Given the description of an element on the screen output the (x, y) to click on. 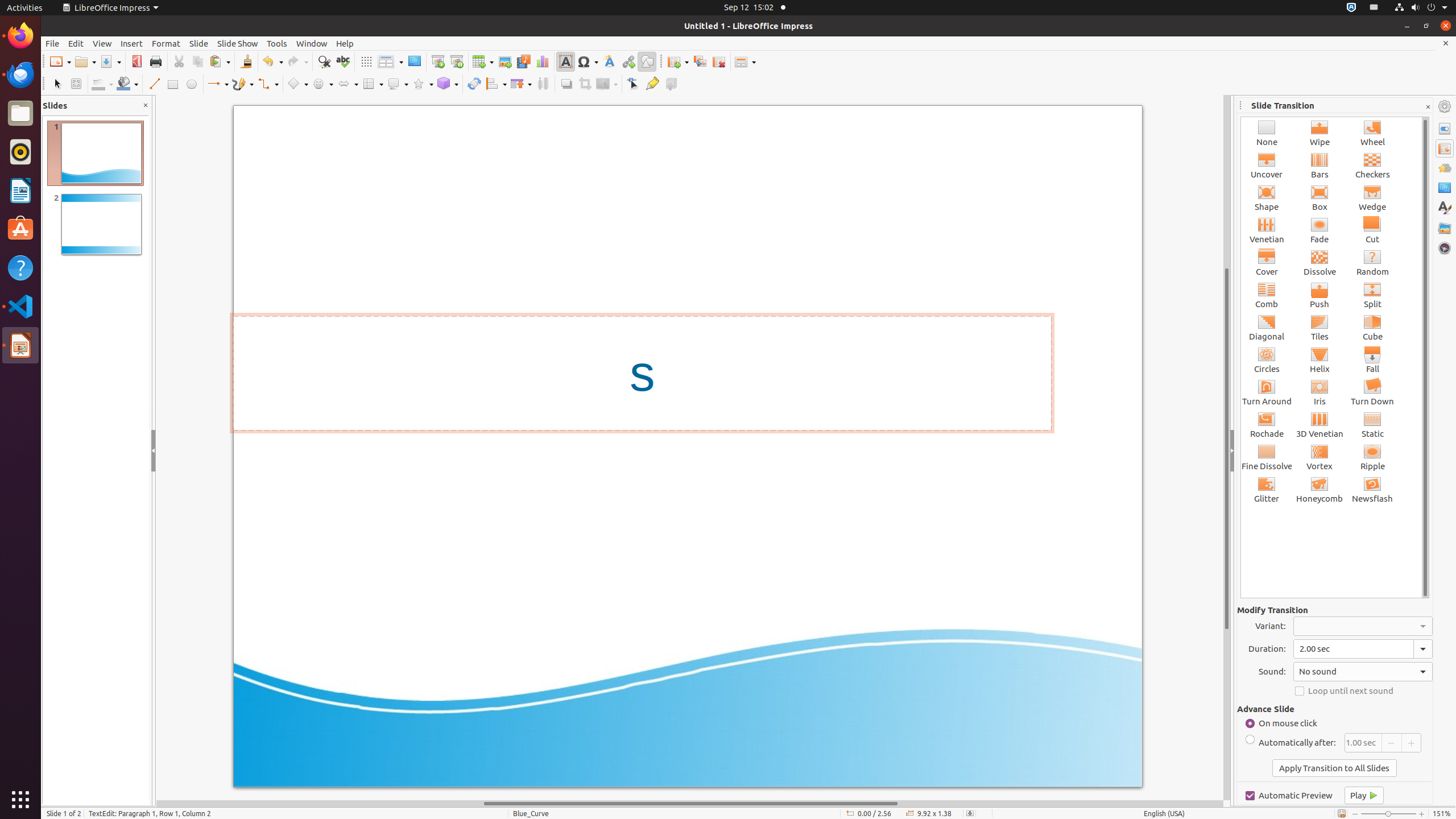
Connectors Element type: push-button (267, 83)
Animation Element type: radio-button (1444, 168)
Styles Element type: radio-button (1444, 208)
Slide Show Element type: menu (237, 43)
Venetian Element type: list-item (1266, 229)
